Given the description of an element on the screen output the (x, y) to click on. 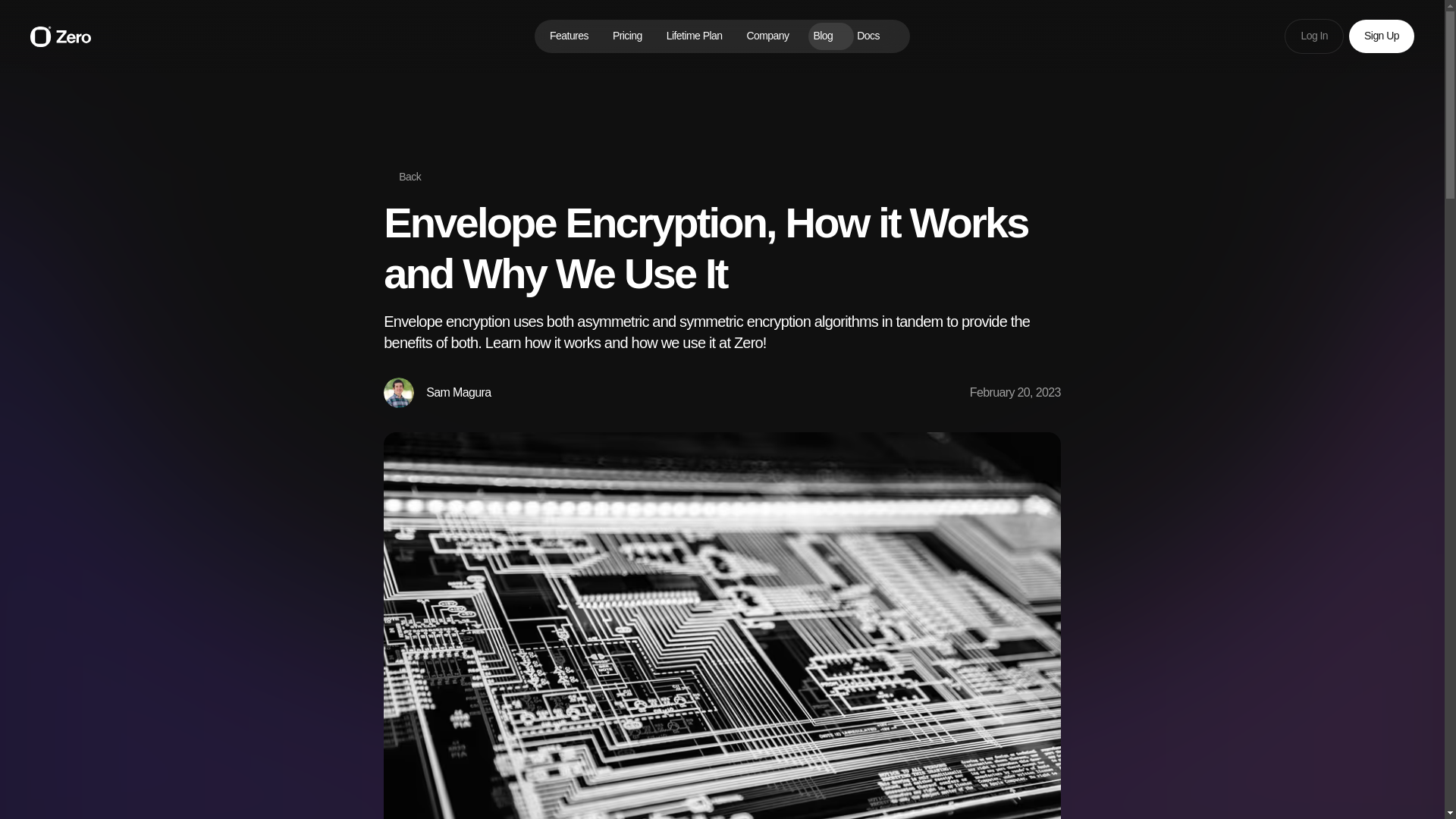
Pricing (626, 35)
Docs (875, 35)
Lifetime Plan (694, 35)
Features (568, 35)
Log In (1313, 36)
Back (402, 177)
Sign Up (1381, 36)
Company (766, 35)
Blog (822, 35)
